Given the description of an element on the screen output the (x, y) to click on. 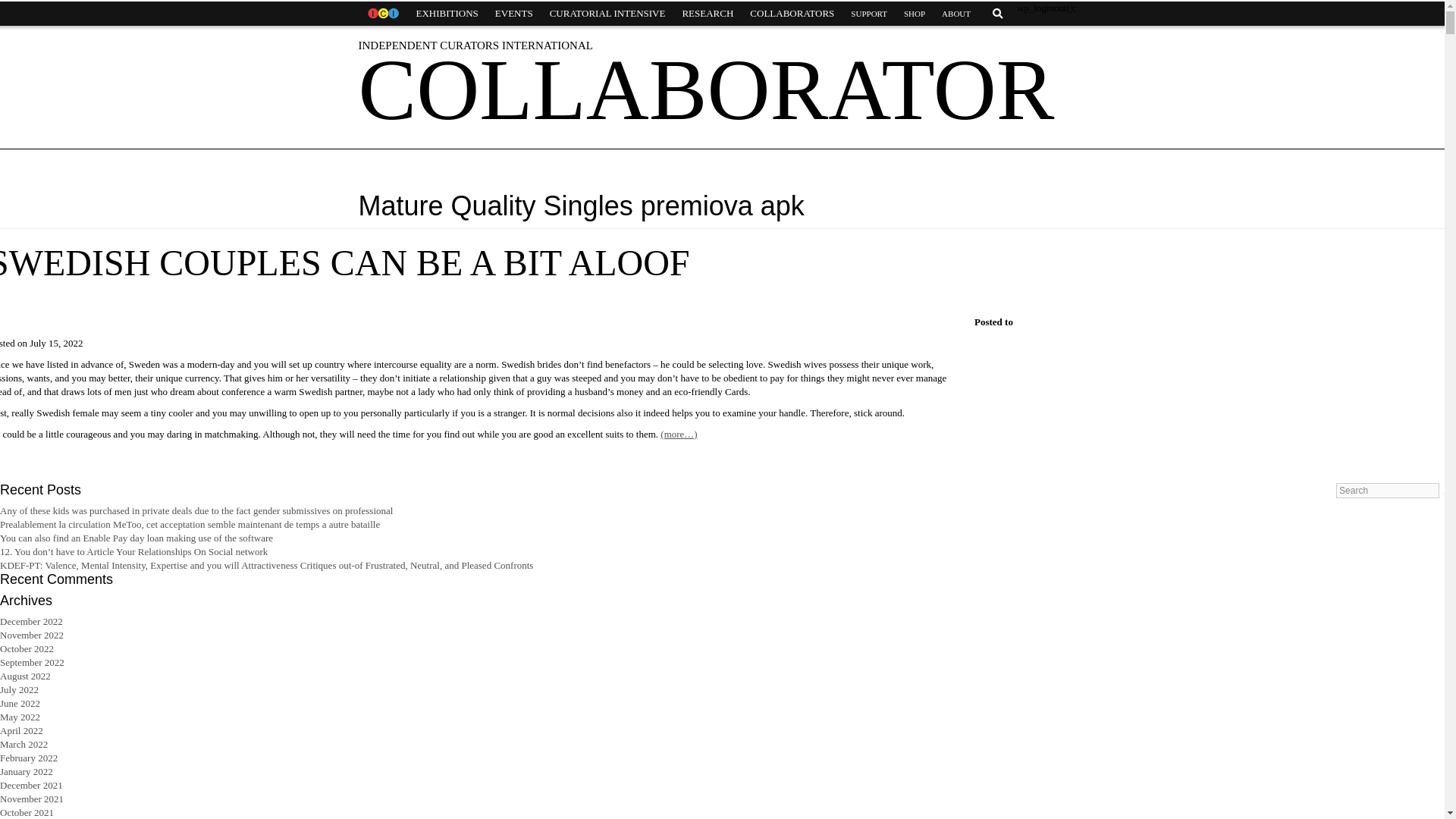
HOME (382, 13)
CURATORIAL INTENSIVE (607, 13)
COLLABORATORS (792, 13)
RESEARCH (706, 13)
EXHIBITIONS (446, 13)
EVENTS (513, 13)
